Given the description of an element on the screen output the (x, y) to click on. 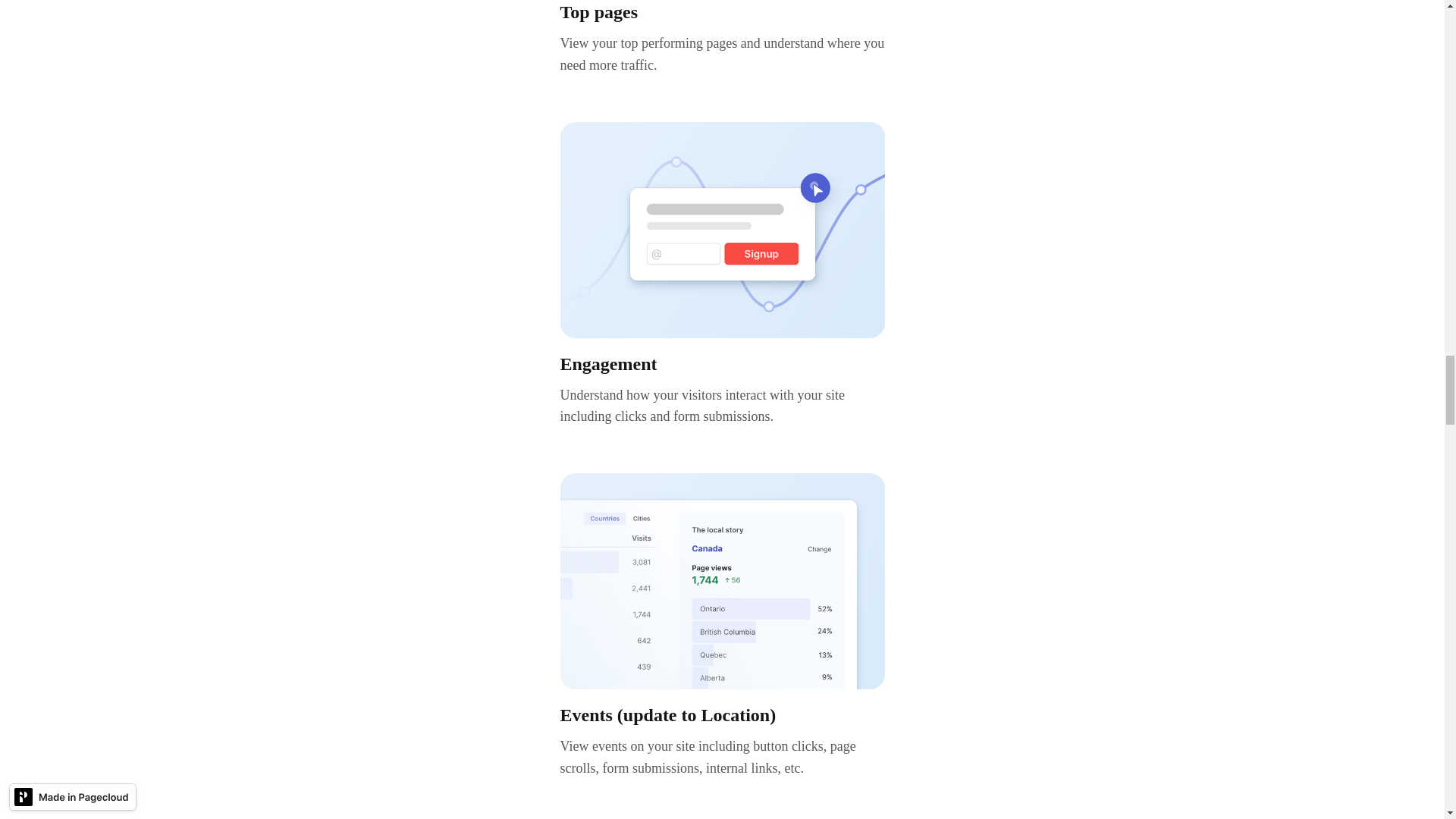
E-commerce (721, 581)
Lots of Apps (721, 230)
